Given the description of an element on the screen output the (x, y) to click on. 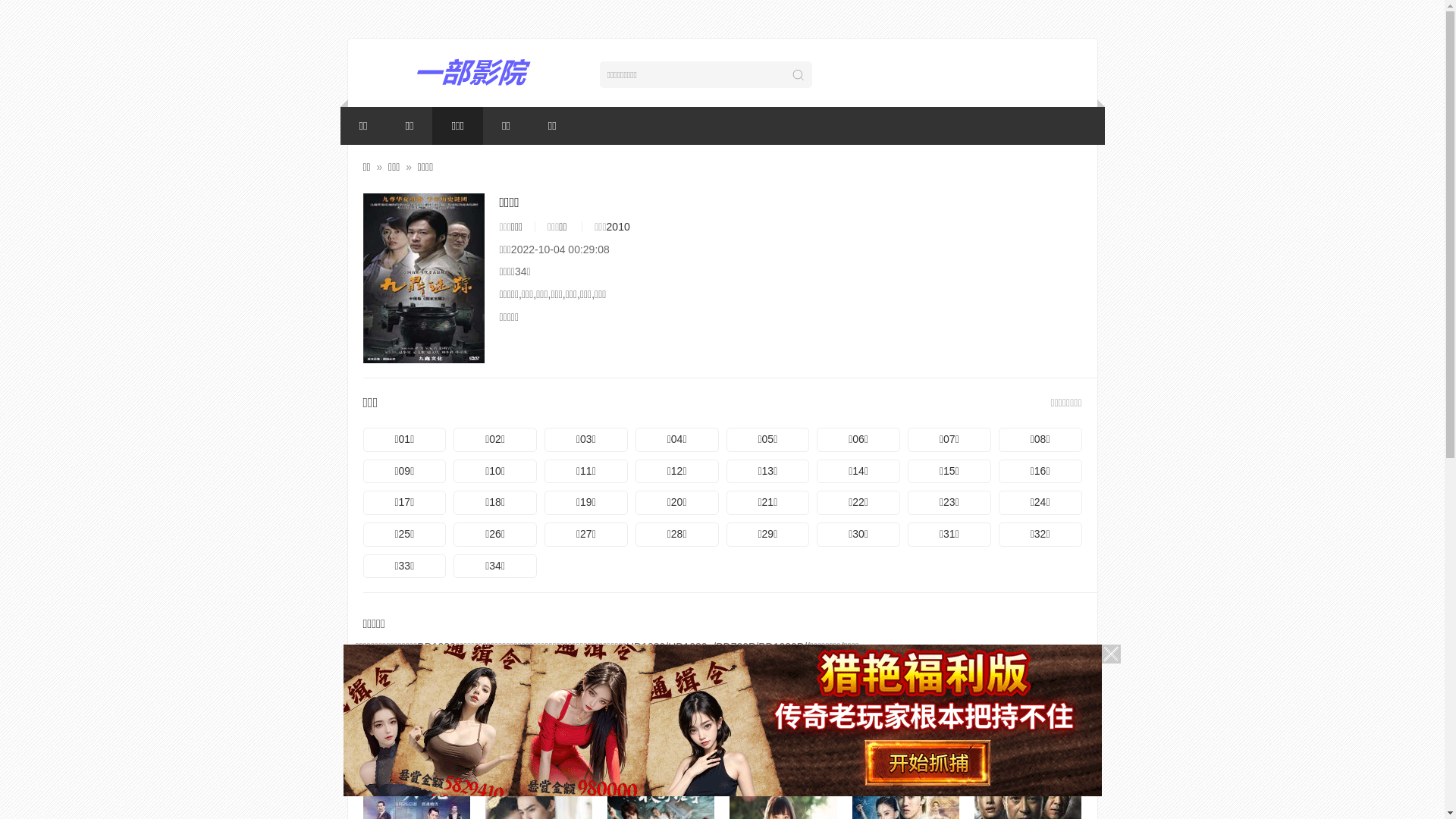
2010 Element type: text (618, 226)
